Given the description of an element on the screen output the (x, y) to click on. 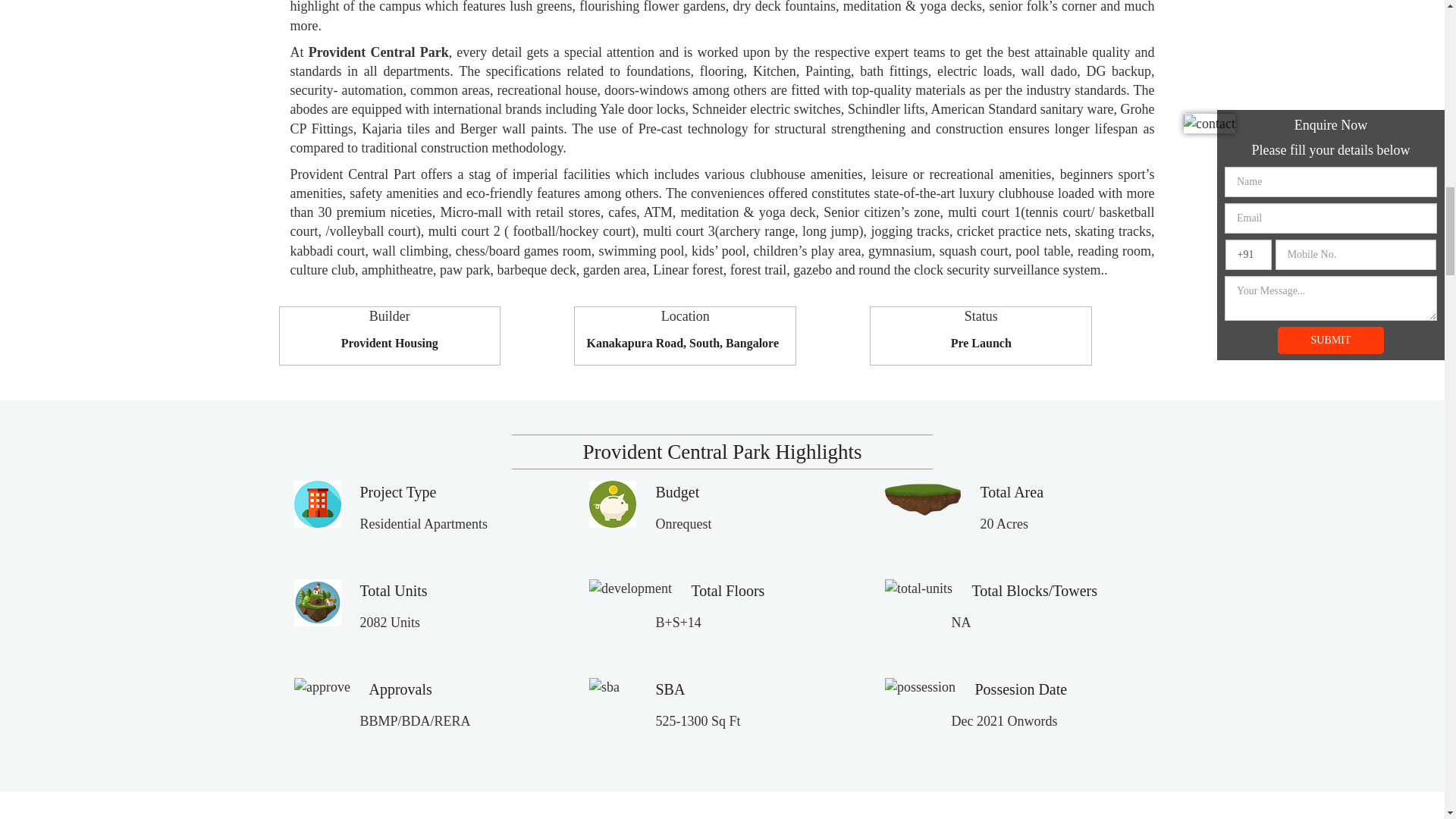
Project Type (397, 492)
Possesion Date (1020, 688)
Budget (676, 492)
SBA (669, 688)
Total Floors (727, 590)
Approvals (399, 688)
Total Units (392, 590)
Total Area (1011, 492)
